Given the description of an element on the screen output the (x, y) to click on. 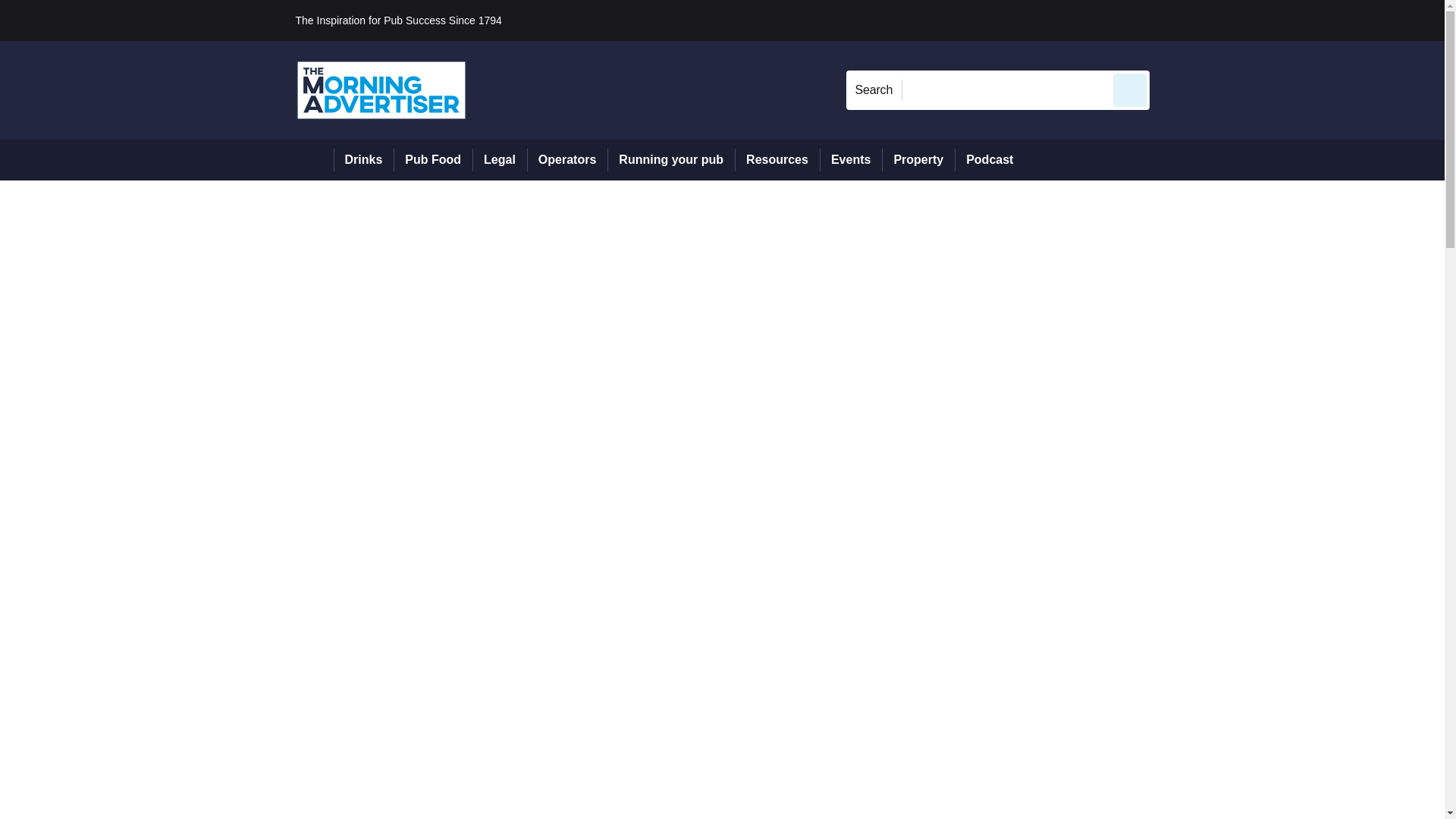
Send (1129, 89)
Send (1129, 90)
Drinks (363, 159)
Sign out (1174, 20)
Legal (499, 159)
Home (313, 159)
My account (1256, 20)
The Morning Advertiser (381, 89)
Sign in (1171, 20)
Pub Food (432, 159)
